Given the description of an element on the screen output the (x, y) to click on. 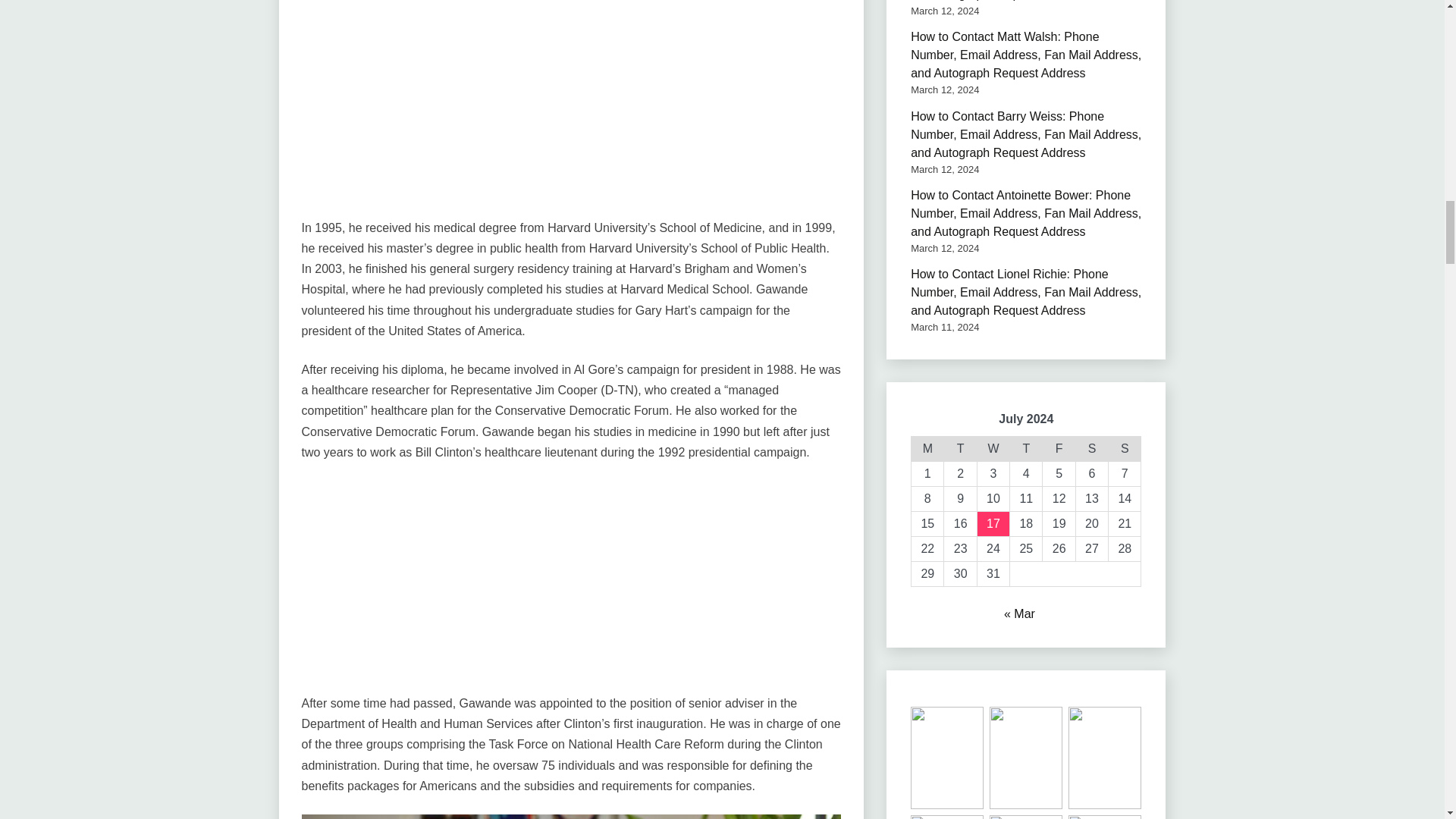
Sunday (1124, 448)
Advertisement (571, 110)
Wednesday (992, 448)
Thursday (1026, 448)
Saturday (1091, 448)
Tuesday (959, 448)
Friday (1058, 448)
Monday (927, 448)
Advertisement (571, 586)
